Given the description of an element on the screen output the (x, y) to click on. 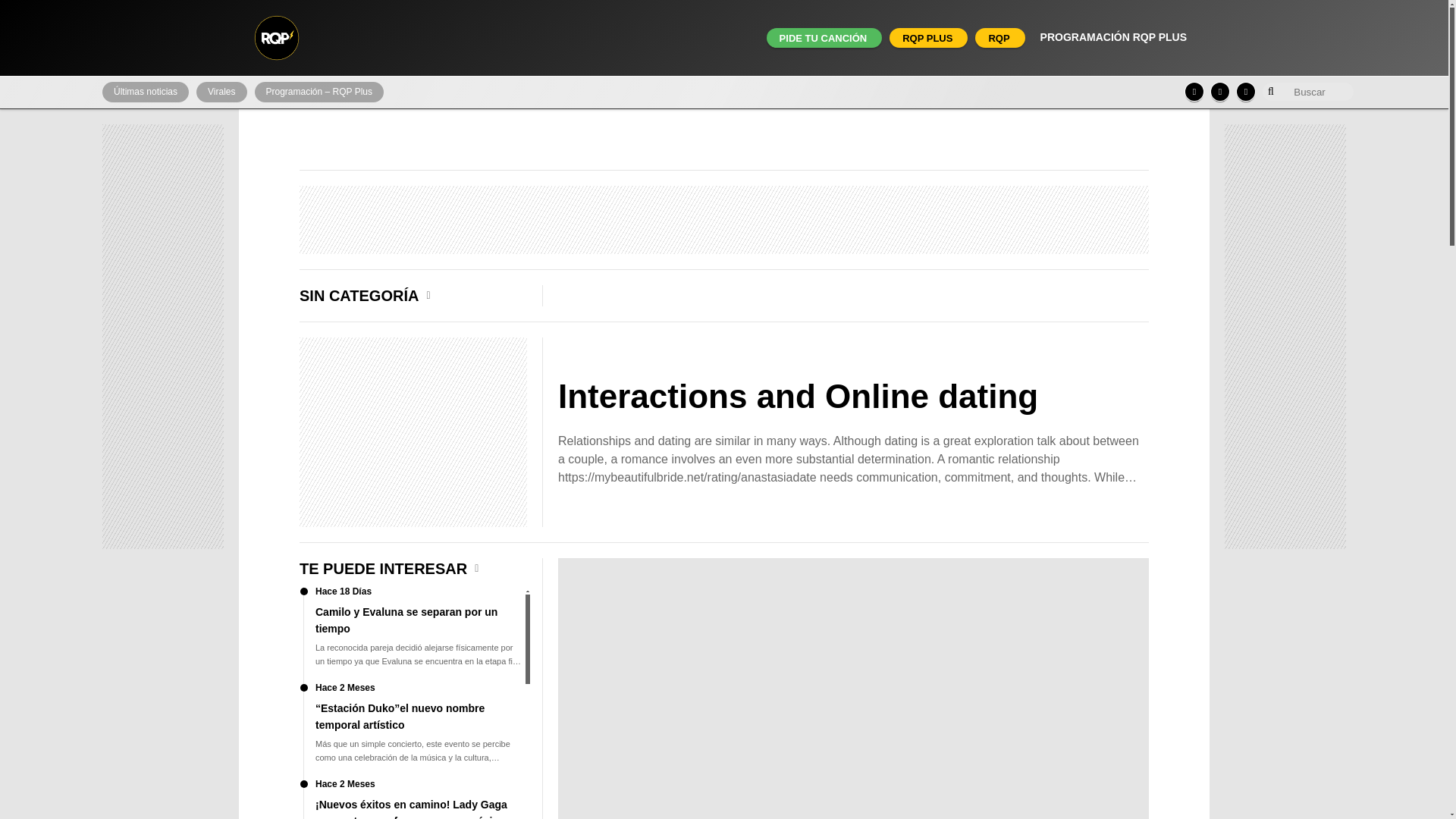
RQP (997, 37)
RQP PLUS (927, 37)
Camilo y Evaluna se separan por un tiempo (413, 635)
Virales (221, 91)
RQP - Bolivia (276, 37)
